Given the description of an element on the screen output the (x, y) to click on. 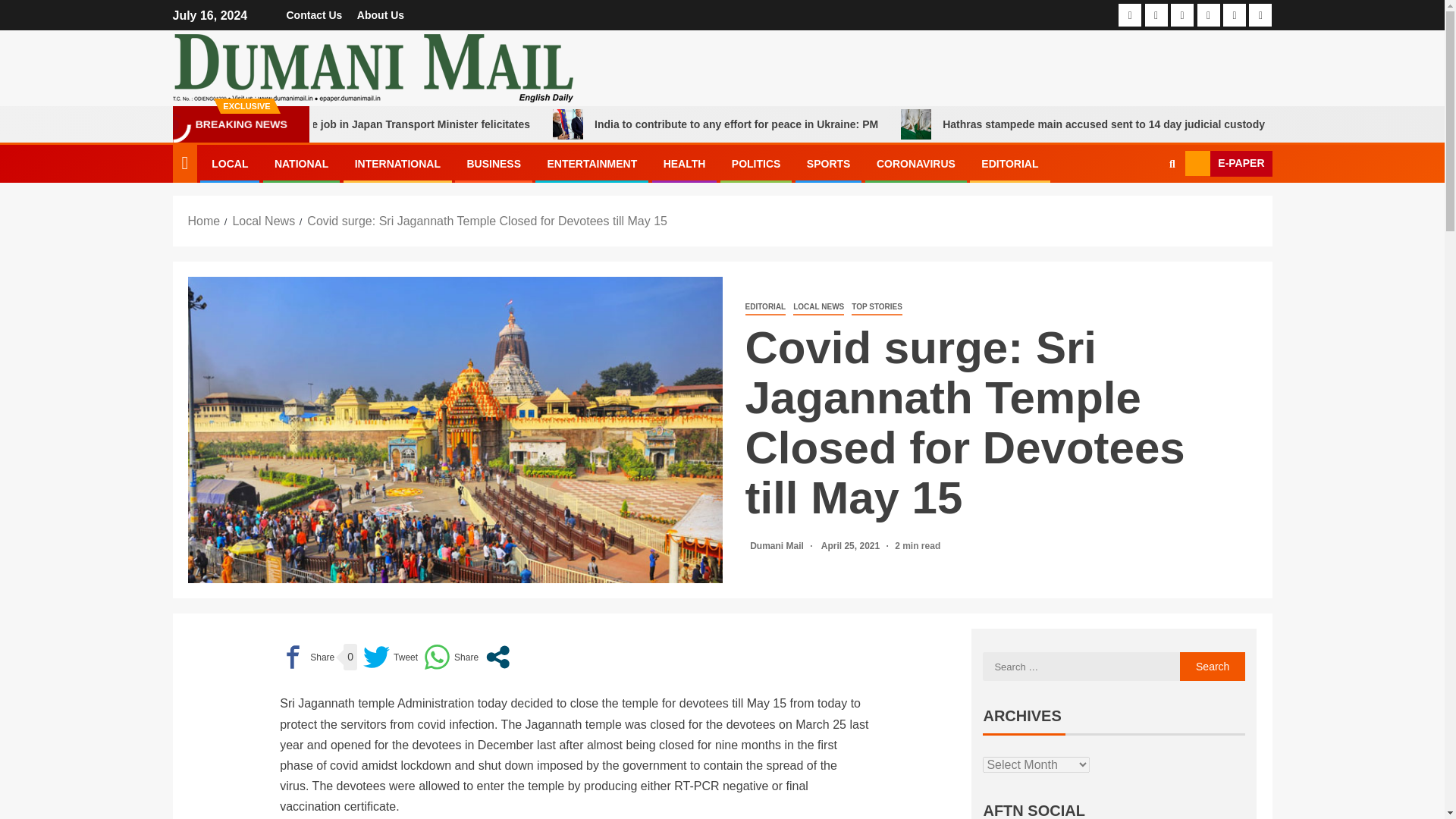
Search (1212, 665)
Home (204, 220)
NATIONAL (302, 163)
Search (1212, 665)
EDITORIAL (1009, 163)
LOCAL (229, 163)
Share on Facebook (306, 656)
POLITICS (756, 163)
About Us (380, 15)
E-PAPER (1228, 163)
BUSINESS (493, 163)
Local News (263, 220)
Search (1142, 209)
India to contribute to any effort for peace in Ukraine: PM (858, 123)
